Given the description of an element on the screen output the (x, y) to click on. 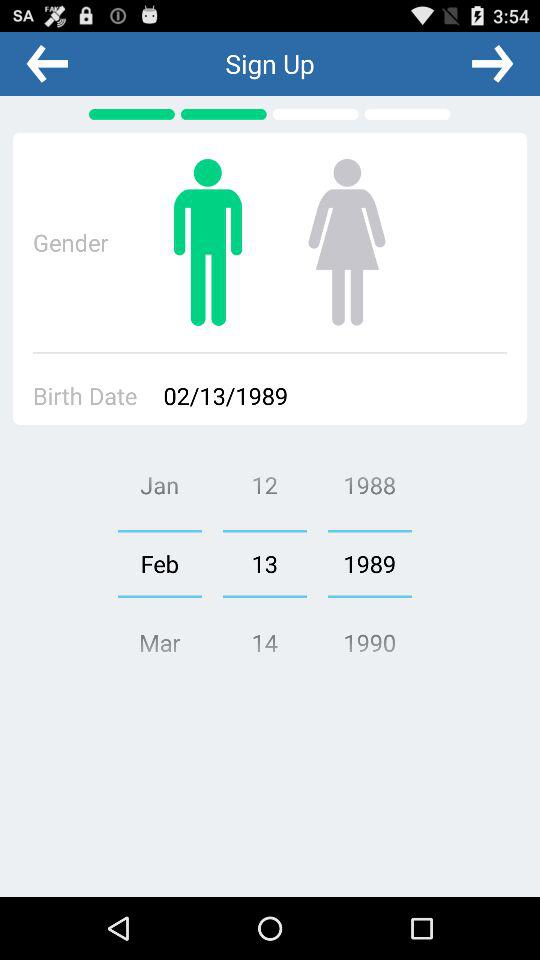
go to next (492, 63)
